Given the description of an element on the screen output the (x, y) to click on. 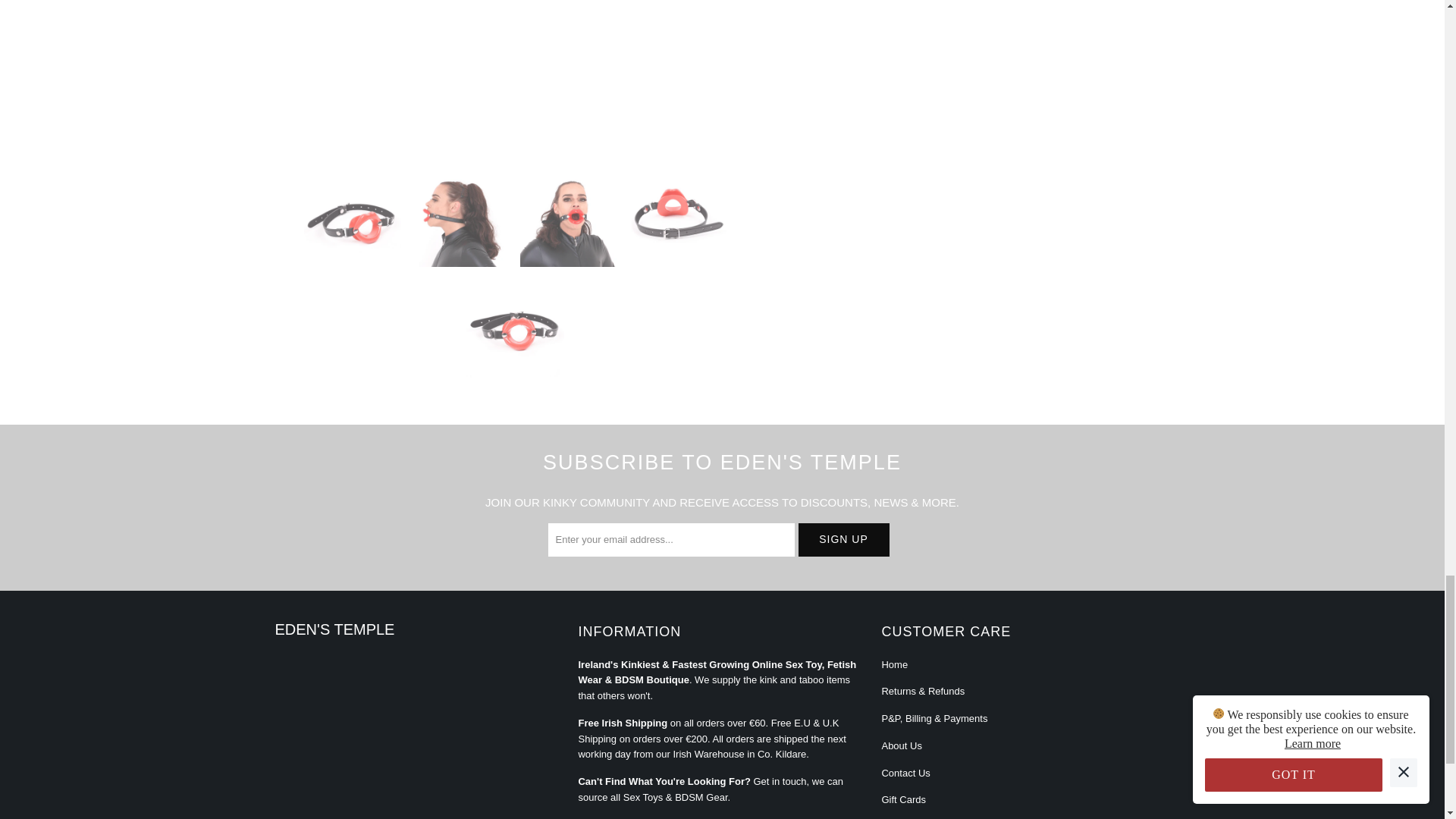
Sign Up (842, 539)
